Given the description of an element on the screen output the (x, y) to click on. 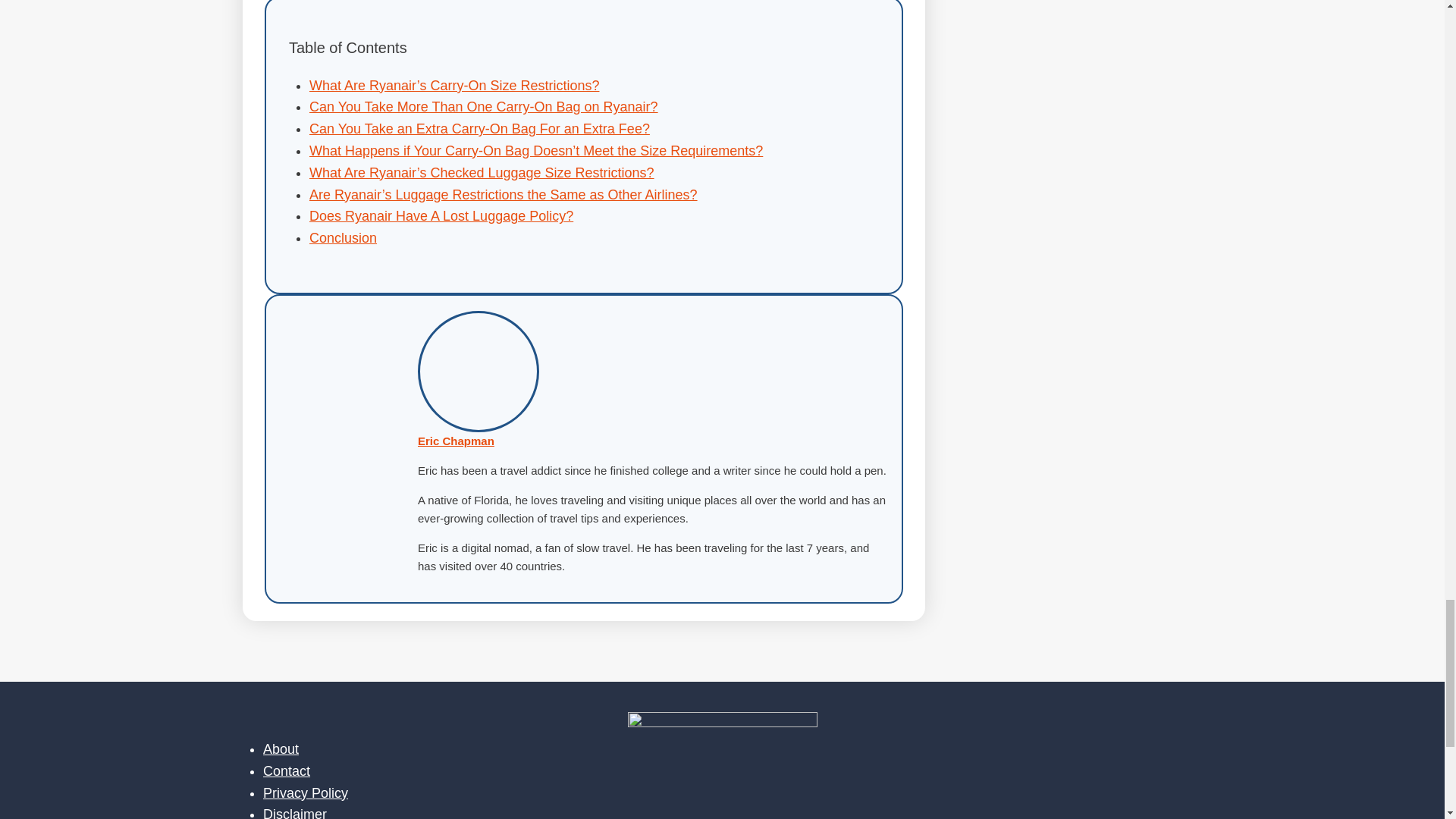
Privacy Policy (305, 792)
About (280, 749)
Does Ryanair Have A Lost Luggage Policy? (440, 215)
Can You Take an Extra Carry-On Bag For an Extra Fee? (478, 128)
Conclusion (342, 237)
Eric Chapman (456, 440)
Contact (286, 770)
Can You Take More Than One Carry-On Bag on Ryanair? (483, 106)
Disclaimer (294, 812)
Posts by Eric Chapman (456, 440)
